Given the description of an element on the screen output the (x, y) to click on. 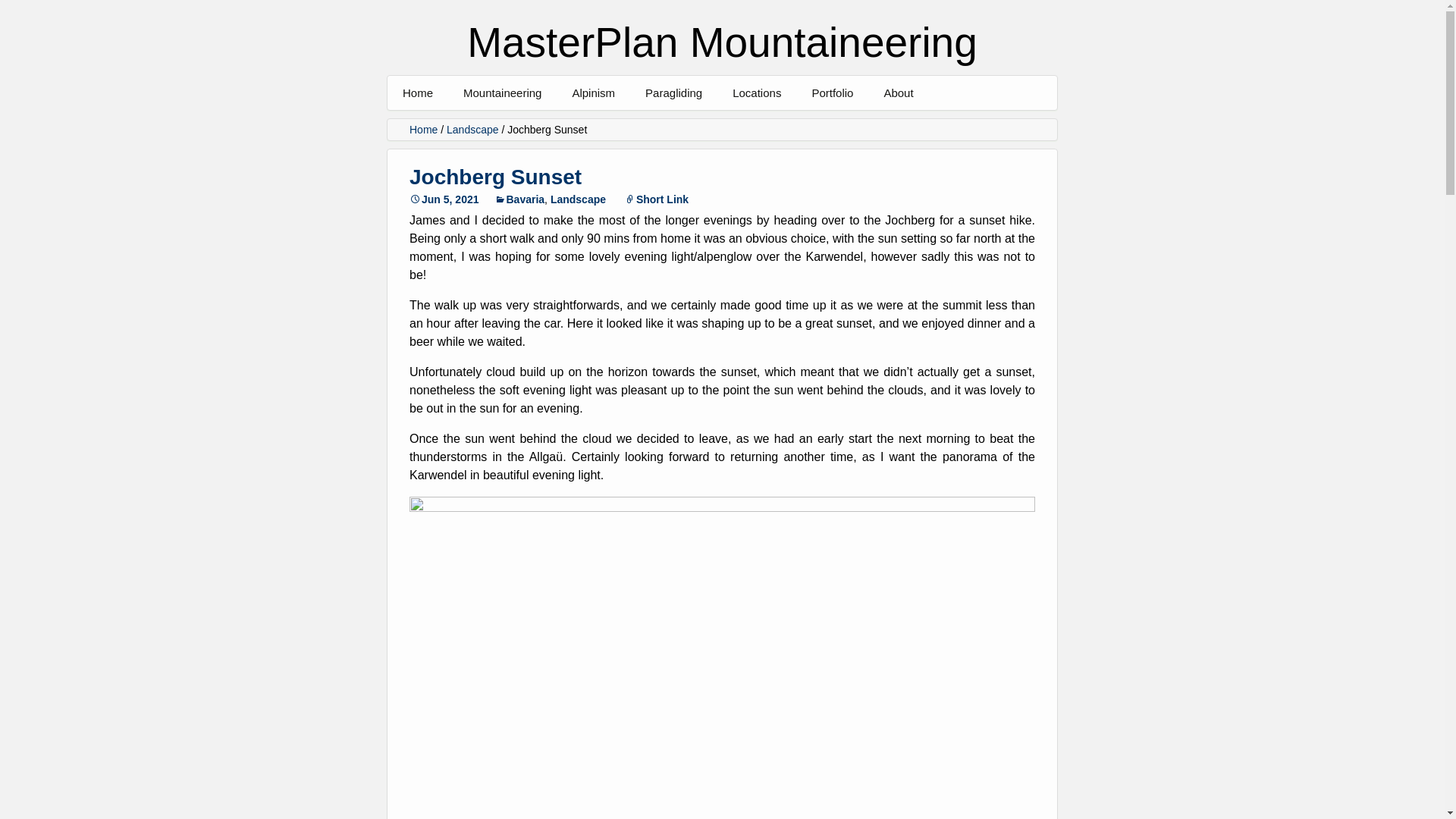
Locations (756, 92)
About (897, 92)
Blog (647, 126)
Portfolio (831, 92)
Paragliding (673, 92)
All (539, 126)
Permalink to Jochberg Sunset (444, 199)
North Wales (808, 126)
Alpinism (593, 92)
Mountaineering (502, 92)
About (958, 126)
Home (417, 92)
Climbing-Alpine (887, 126)
